Given the description of an element on the screen output the (x, y) to click on. 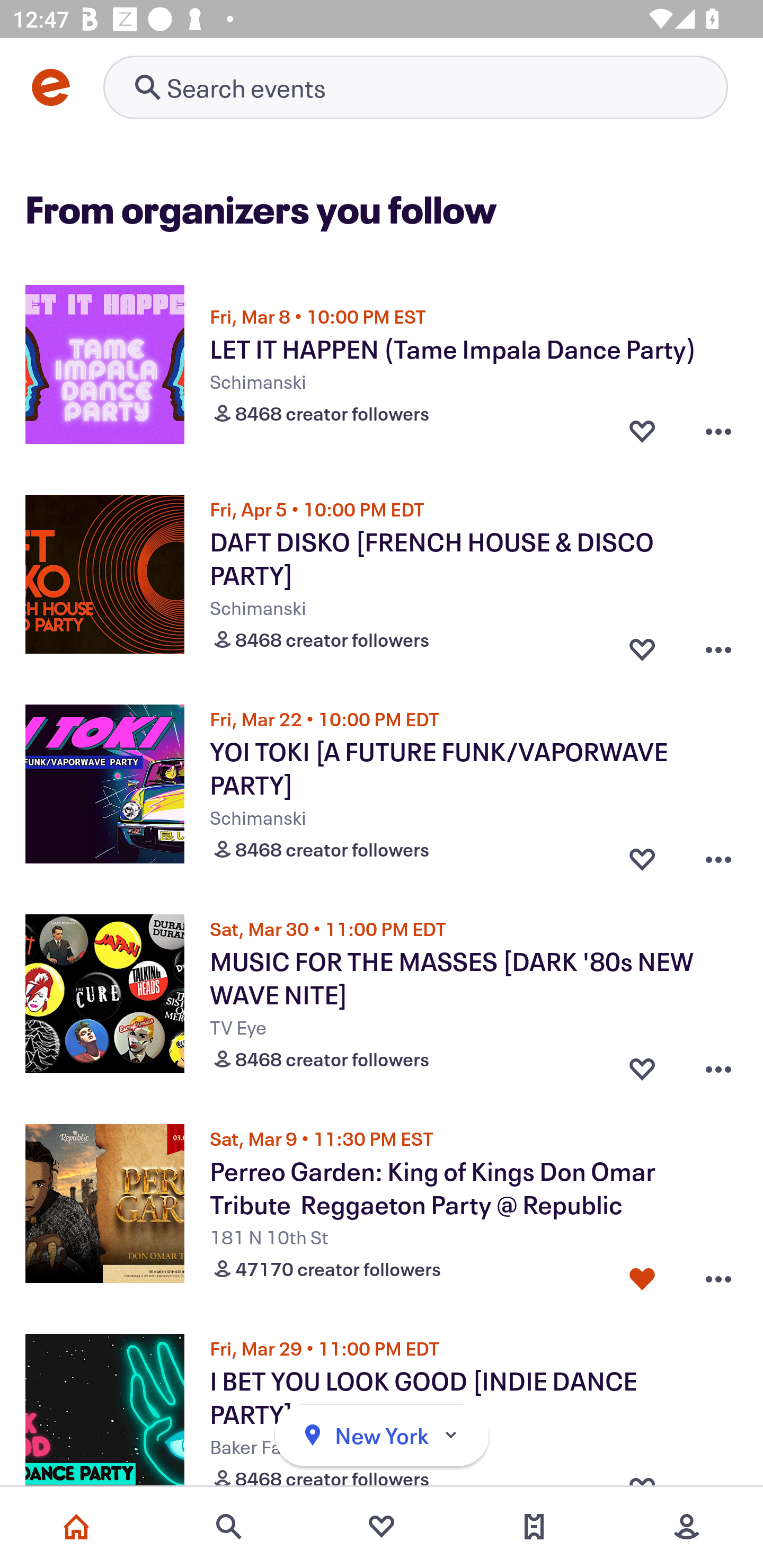
Retry's image Search events (415, 86)
Favorite button (642, 430)
Overflow menu button (718, 430)
Favorite button (642, 644)
Overflow menu button (718, 644)
Favorite button (642, 855)
Overflow menu button (718, 855)
Favorite button (642, 1065)
Overflow menu button (718, 1065)
Favorite button (642, 1274)
Overflow menu button (718, 1274)
New York (381, 1435)
Home (76, 1526)
Search events (228, 1526)
Favorites (381, 1526)
Tickets (533, 1526)
More (686, 1526)
